Given the description of an element on the screen output the (x, y) to click on. 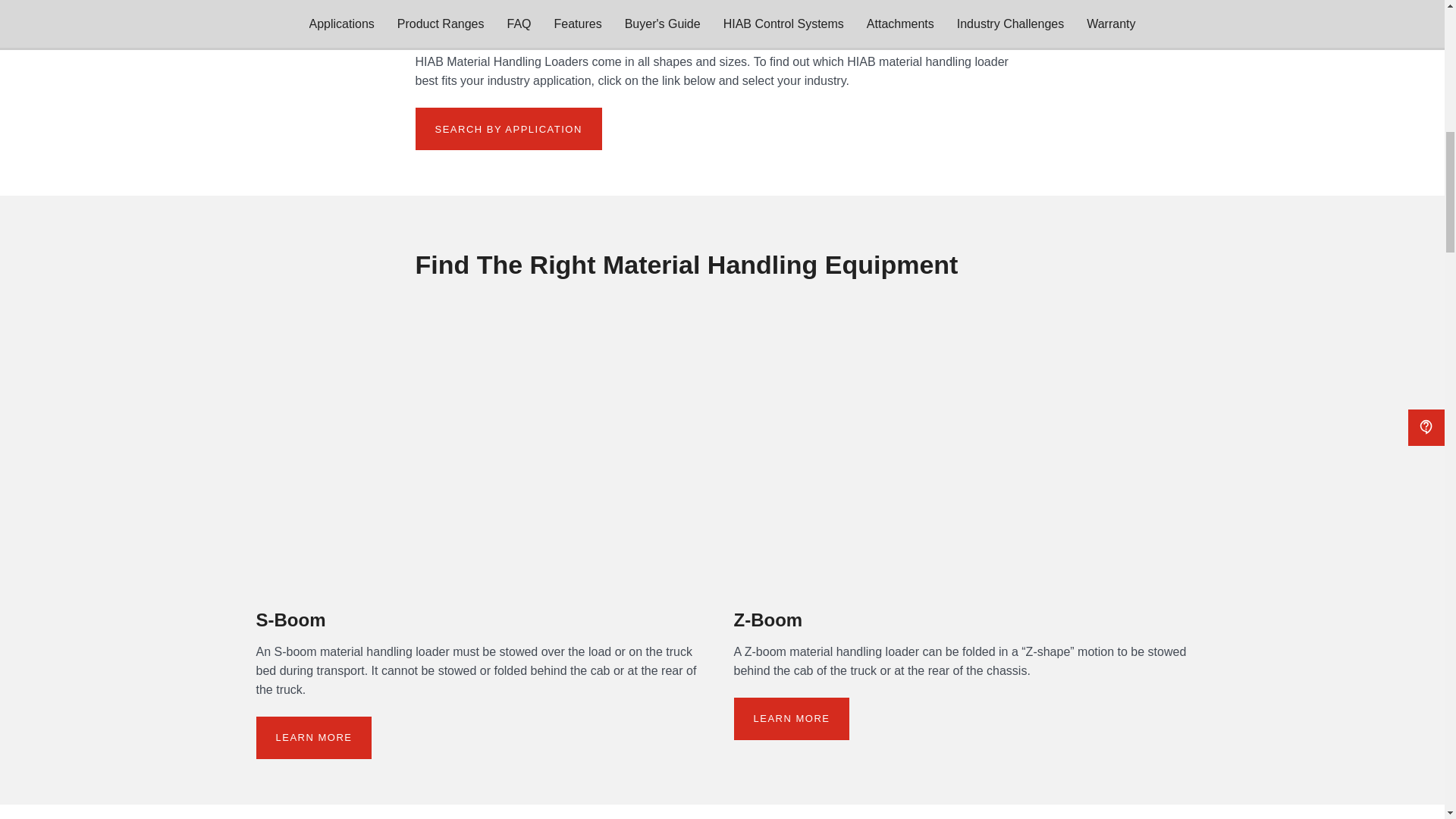
Z-Boom (768, 625)
LEARN MORE (314, 736)
LEARN MORE (791, 718)
SEARCH BY APPLICATION (508, 128)
A Material Handler for Every Application (659, 30)
S-Boom (291, 625)
